Given the description of an element on the screen output the (x, y) to click on. 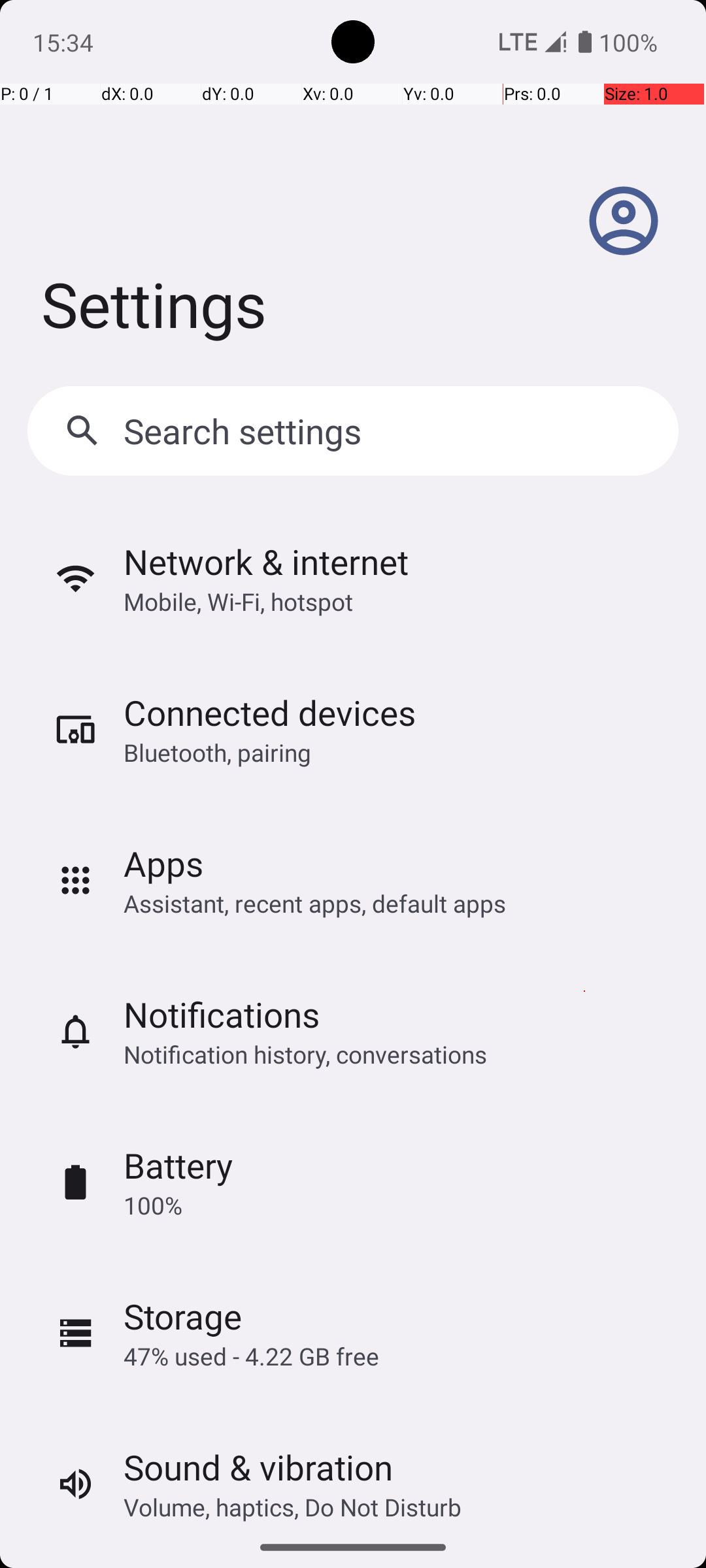
47% used - 4.22 GB free Element type: android.widget.TextView (251, 1355)
